Given the description of an element on the screen output the (x, y) to click on. 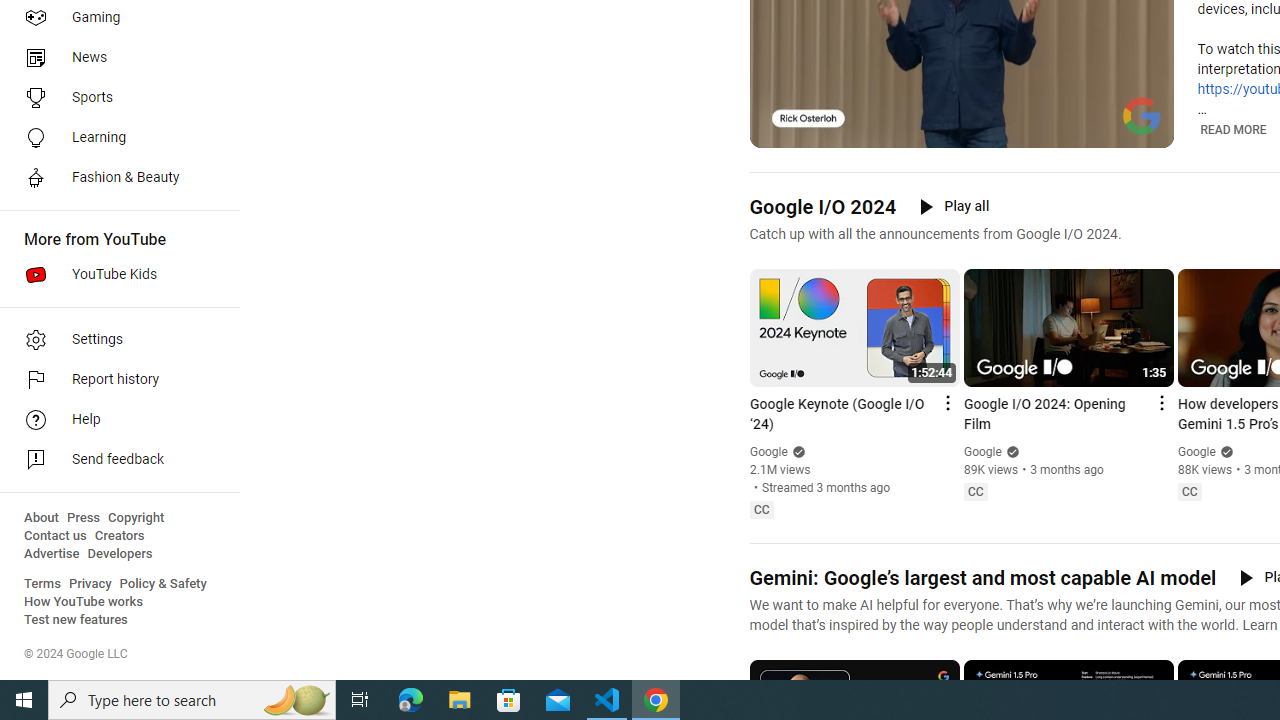
MadeByGoogle '24: Intro (985, 130)
Advertise (51, 554)
Developers (120, 554)
READ MORE (1232, 129)
Full screen (f) (1143, 130)
Test new features (76, 620)
YouTube Kids (113, 274)
Press (83, 518)
Contact us (55, 536)
How YouTube works (83, 602)
